Given the description of an element on the screen output the (x, y) to click on. 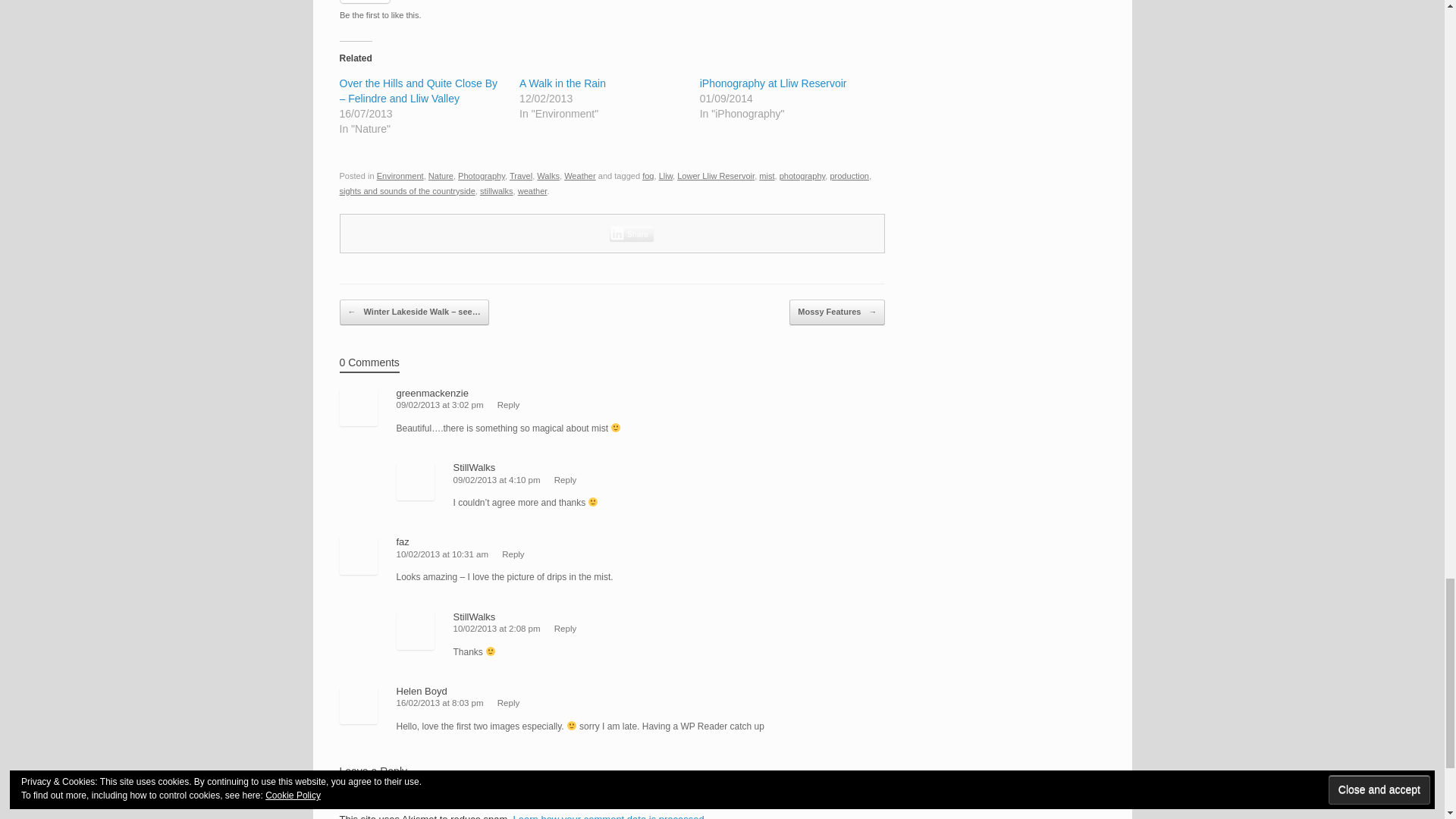
A Walk in the Rain (562, 82)
iPhonography at Lliw Reservoir (773, 82)
Nature (440, 175)
Like or Reblog (612, 10)
Photography (481, 175)
A Walk in the Rain (562, 82)
Environment (400, 175)
